Given the description of an element on the screen output the (x, y) to click on. 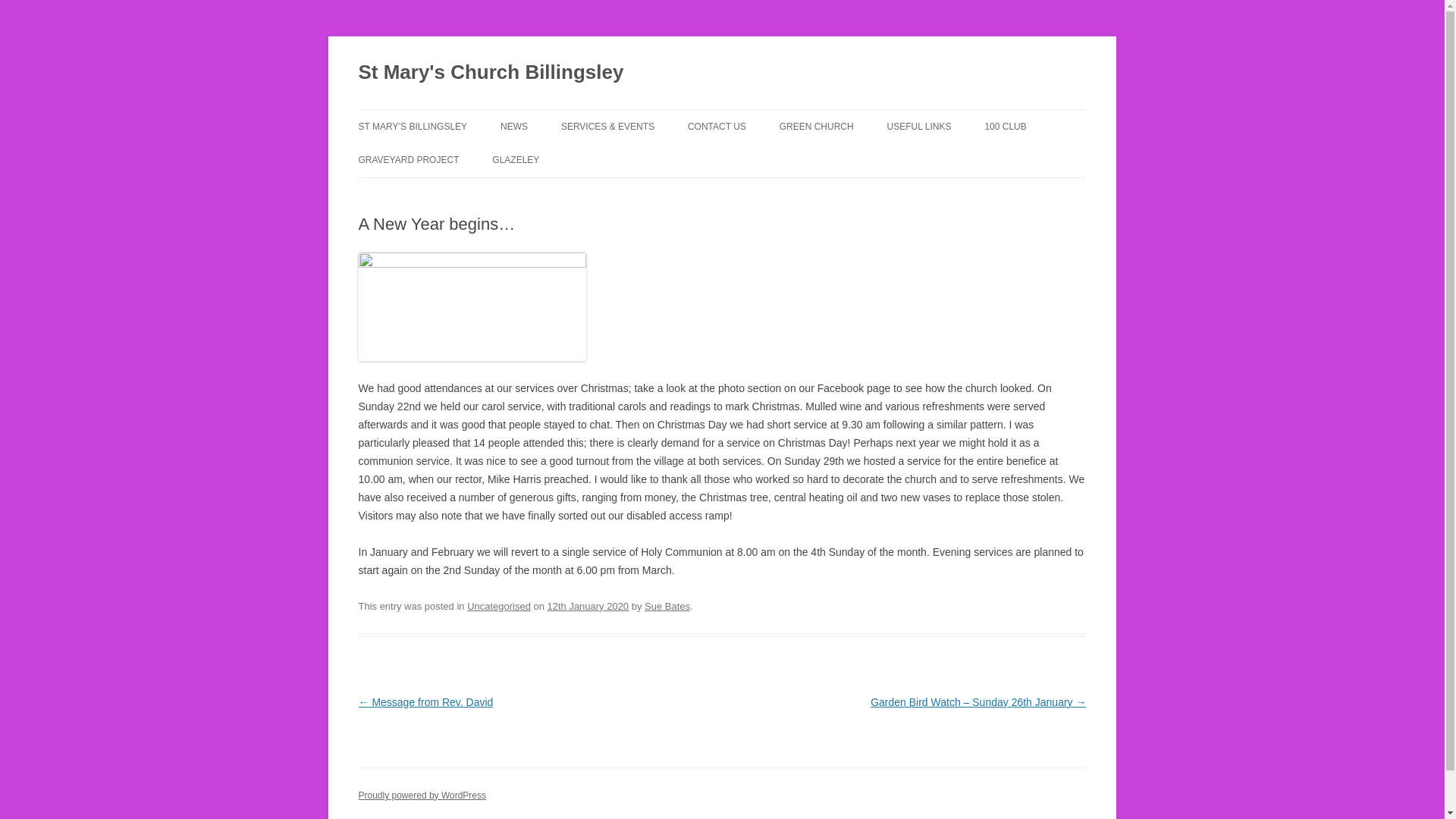
Uncategorised (499, 605)
100 CLUB (1005, 126)
100 CLUB DRAWS AND RESULTS (1059, 158)
St Mary's Church Billingsley (490, 72)
WAR MEMORIAL (567, 192)
USEFUL LINKS (919, 126)
Sue Bates (667, 605)
St Mary's Church Billingsley (490, 72)
HISTORY (433, 158)
6:15 pm (587, 605)
